Given the description of an element on the screen output the (x, y) to click on. 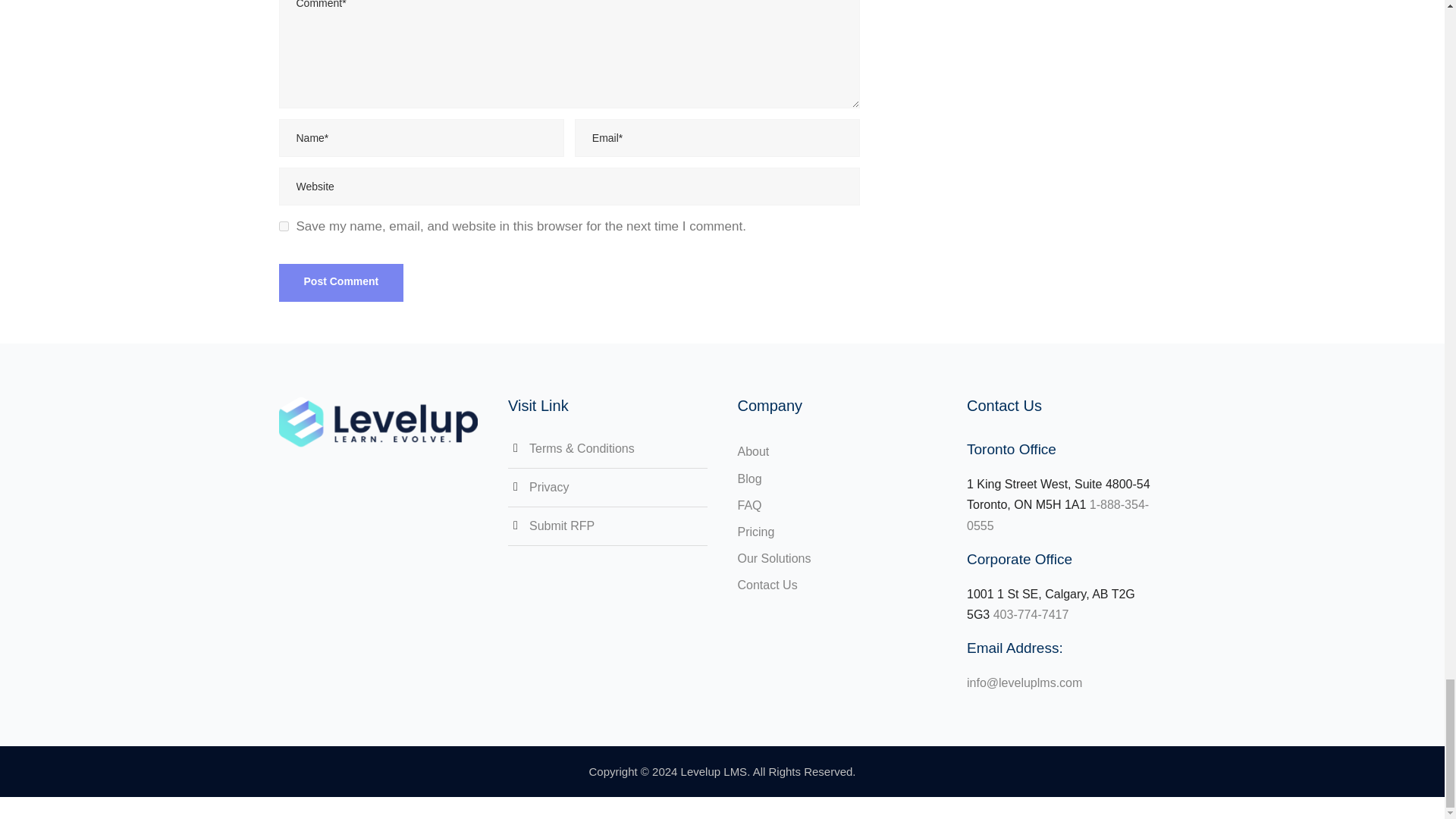
Post Comment (341, 282)
yes (283, 225)
